Given the description of an element on the screen output the (x, y) to click on. 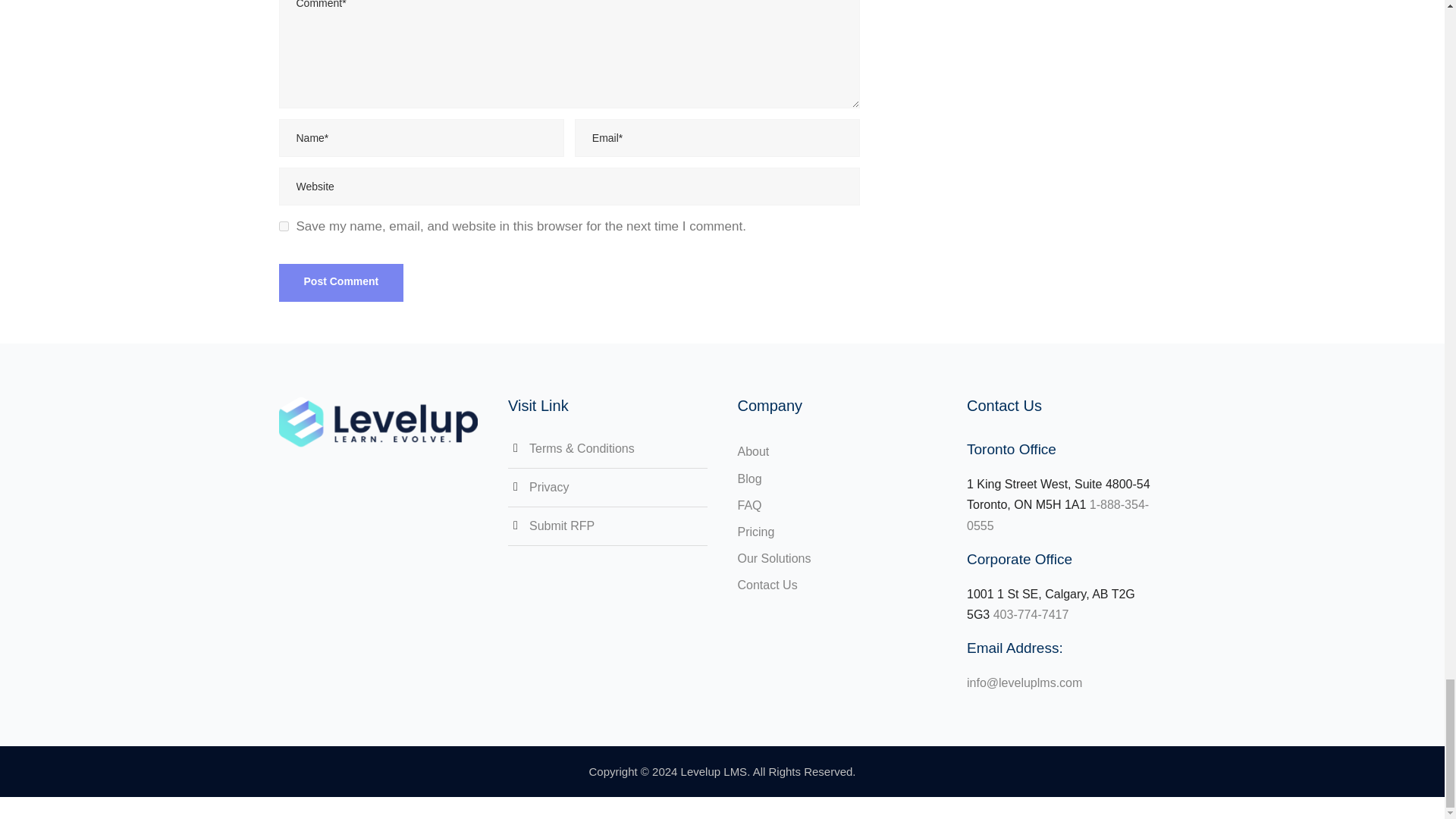
Post Comment (341, 282)
yes (283, 225)
